Given the description of an element on the screen output the (x, y) to click on. 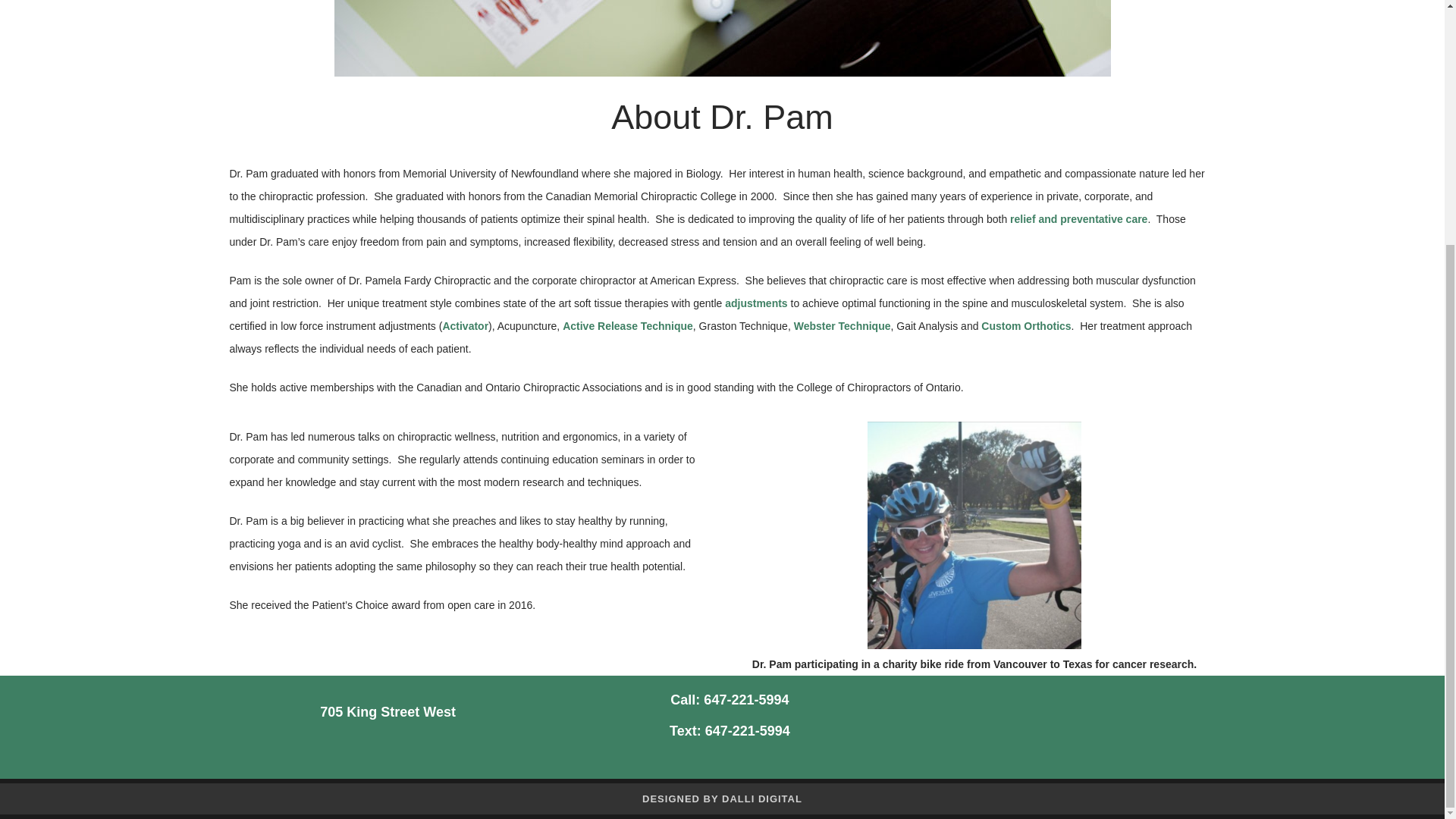
adjustments (756, 303)
relief and preventative care (1078, 218)
Active Release Technique (627, 326)
705 King Street West (387, 711)
DALLI DIGITAL (762, 797)
Webster Technique (842, 326)
Text: 647-221-5994 (729, 730)
Call: 647-221-5994 (729, 699)
Custom Orthotics (1025, 326)
Activator (464, 326)
